Given the description of an element on the screen output the (x, y) to click on. 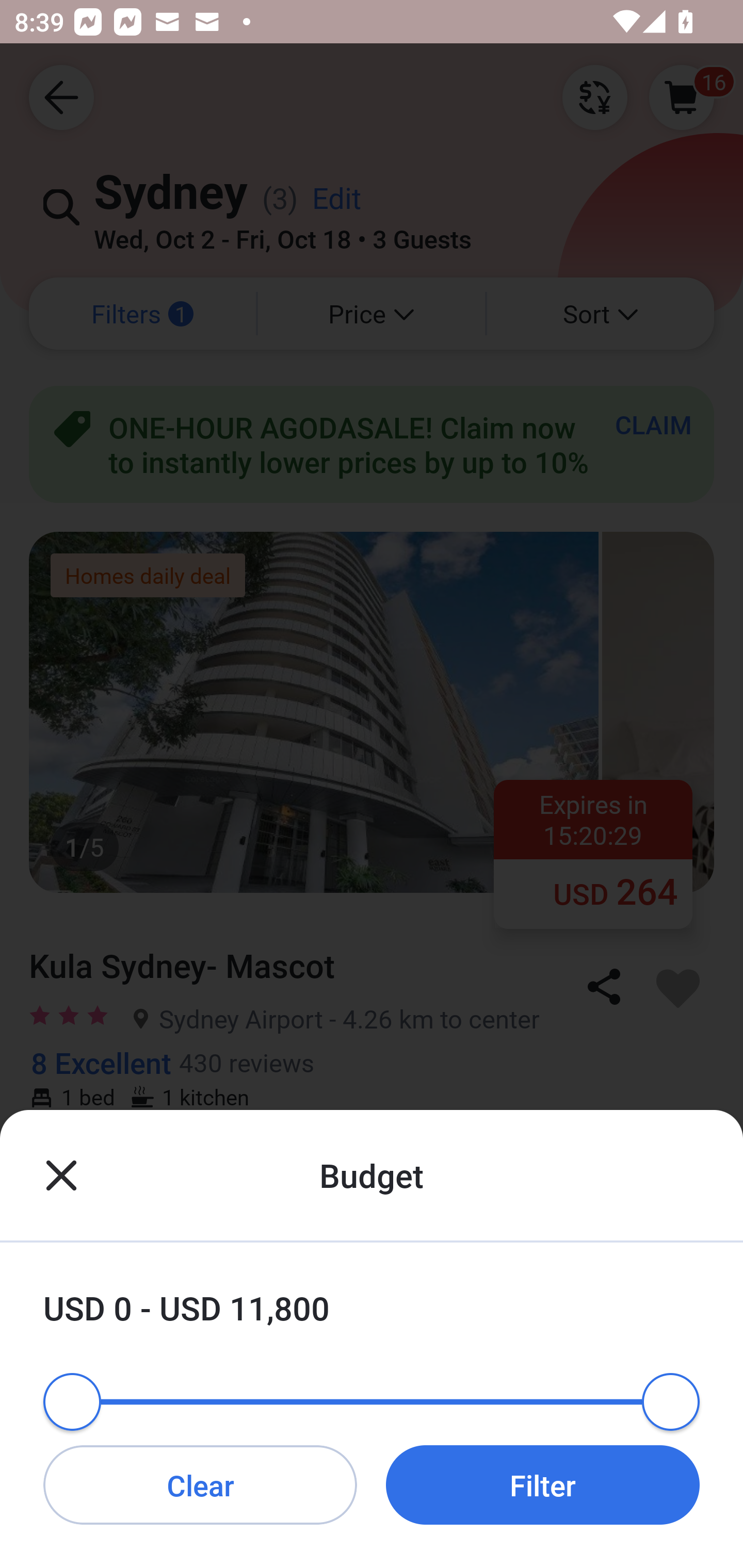
1/5 (371, 1377)
Clear (200, 1484)
Filter (542, 1484)
